Given the description of an element on the screen output the (x, y) to click on. 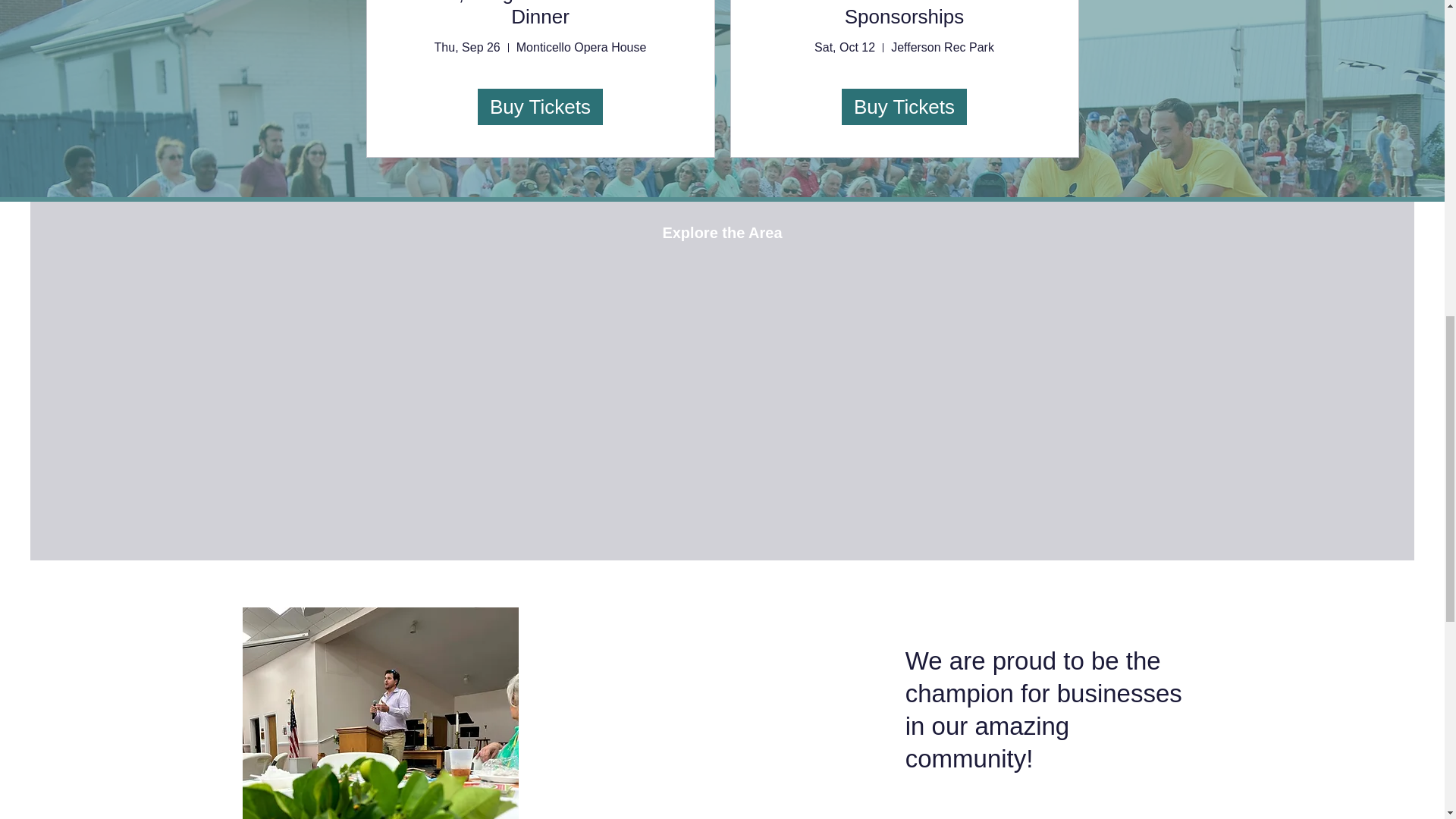
Buy Tickets (539, 106)
PickleFall Tournament Sponsorships (904, 13)
Buy Tickets (903, 106)
